Given the description of an element on the screen output the (x, y) to click on. 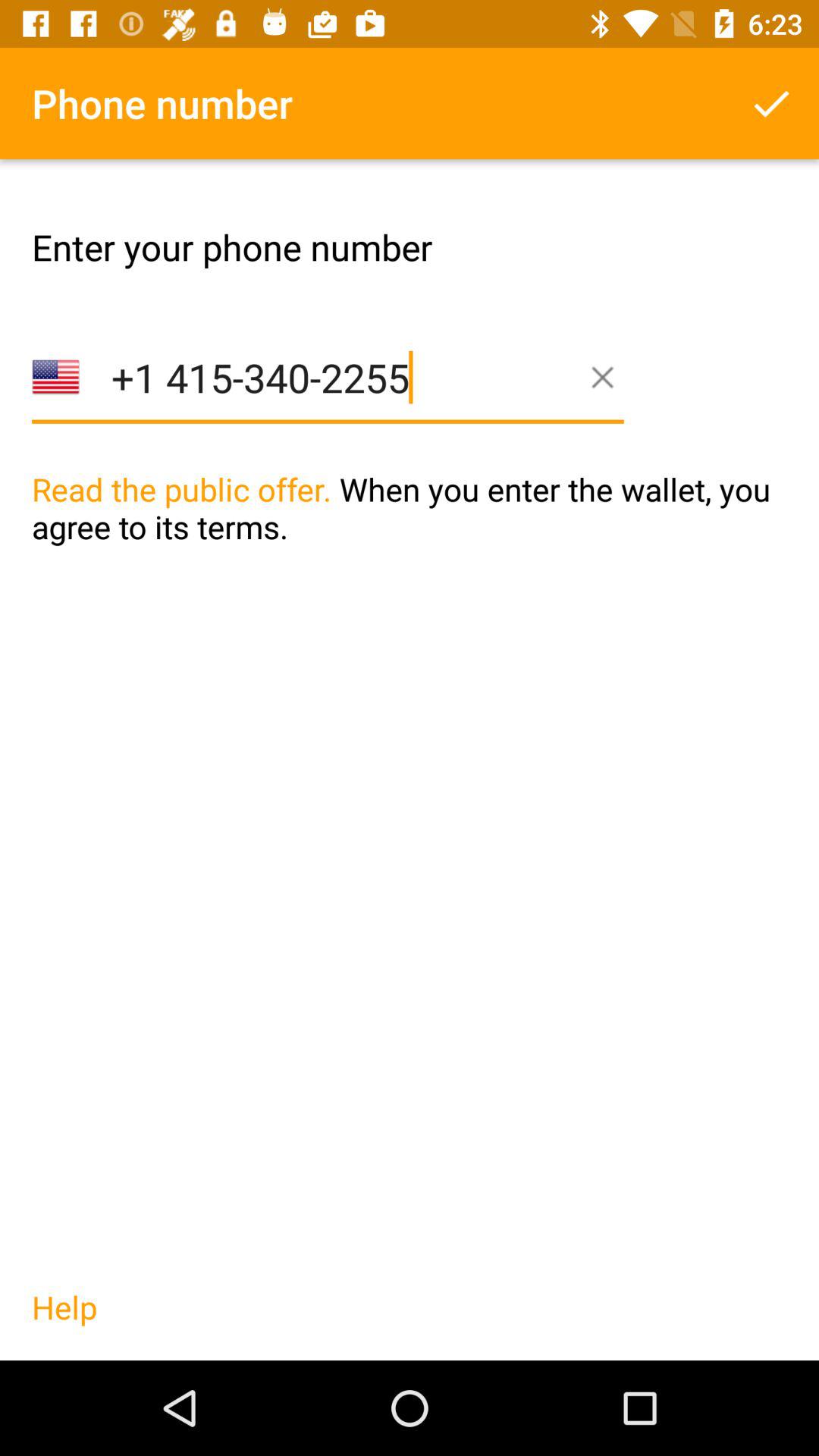
turn off 1 415 340 item (327, 400)
